Given the description of an element on the screen output the (x, y) to click on. 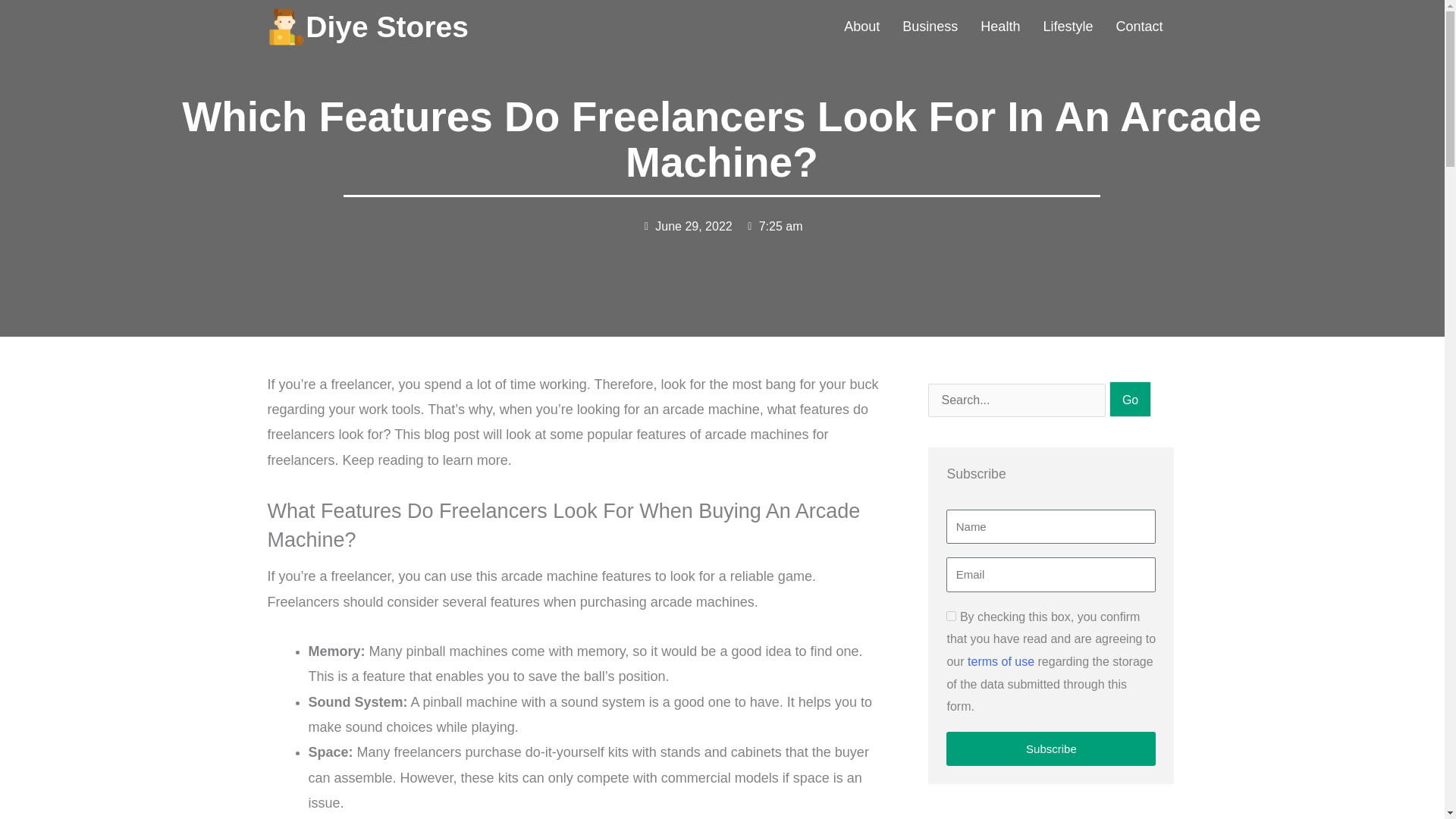
terms of use (1000, 661)
Subscribe (1051, 748)
Business (930, 26)
Diye Stores (386, 26)
Health (999, 26)
June 29, 2022 (686, 226)
Contact (1138, 26)
About (861, 26)
on (951, 615)
Lifestyle (1066, 26)
Go (1130, 399)
